Given the description of an element on the screen output the (x, y) to click on. 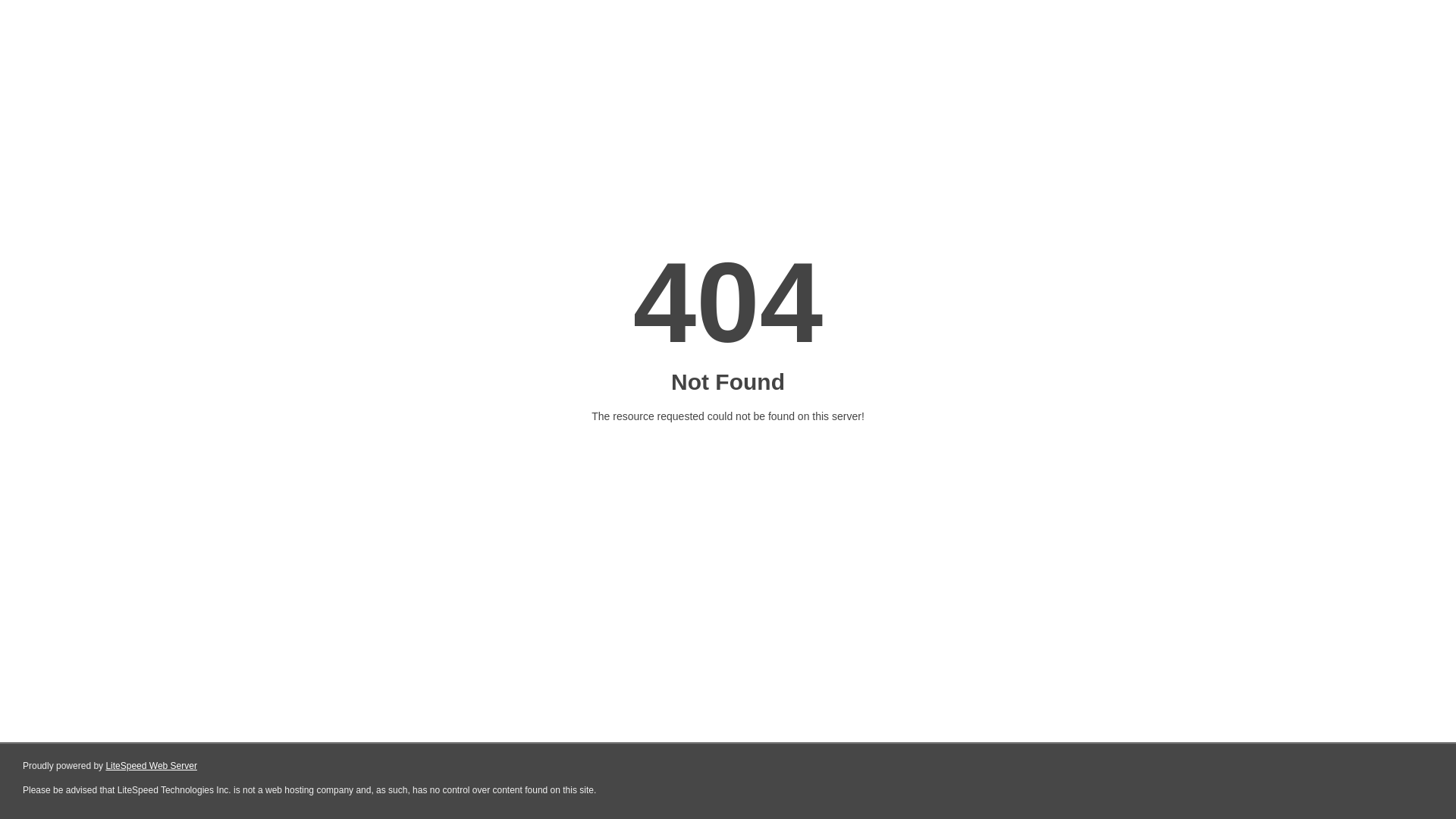
LiteSpeed Web Server Element type: text (151, 765)
